Given the description of an element on the screen output the (x, y) to click on. 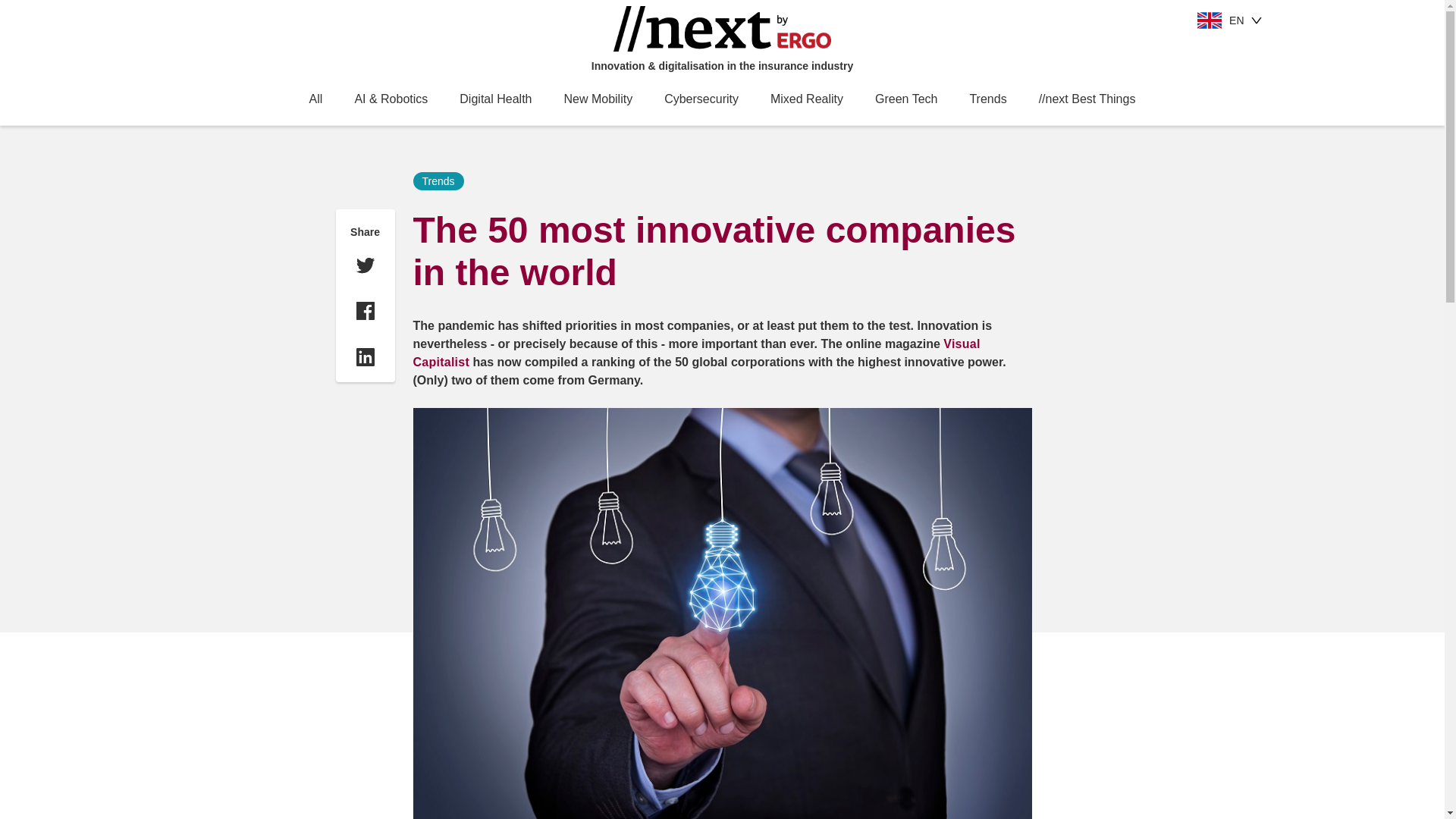
Cybersecurity (700, 98)
Green Tech (906, 98)
All (315, 98)
Digital Health (495, 98)
Visual Capitalist (695, 352)
New Mobility (597, 98)
Trends (987, 98)
Mixed Reality (806, 98)
EN (1229, 20)
